Given the description of an element on the screen output the (x, y) to click on. 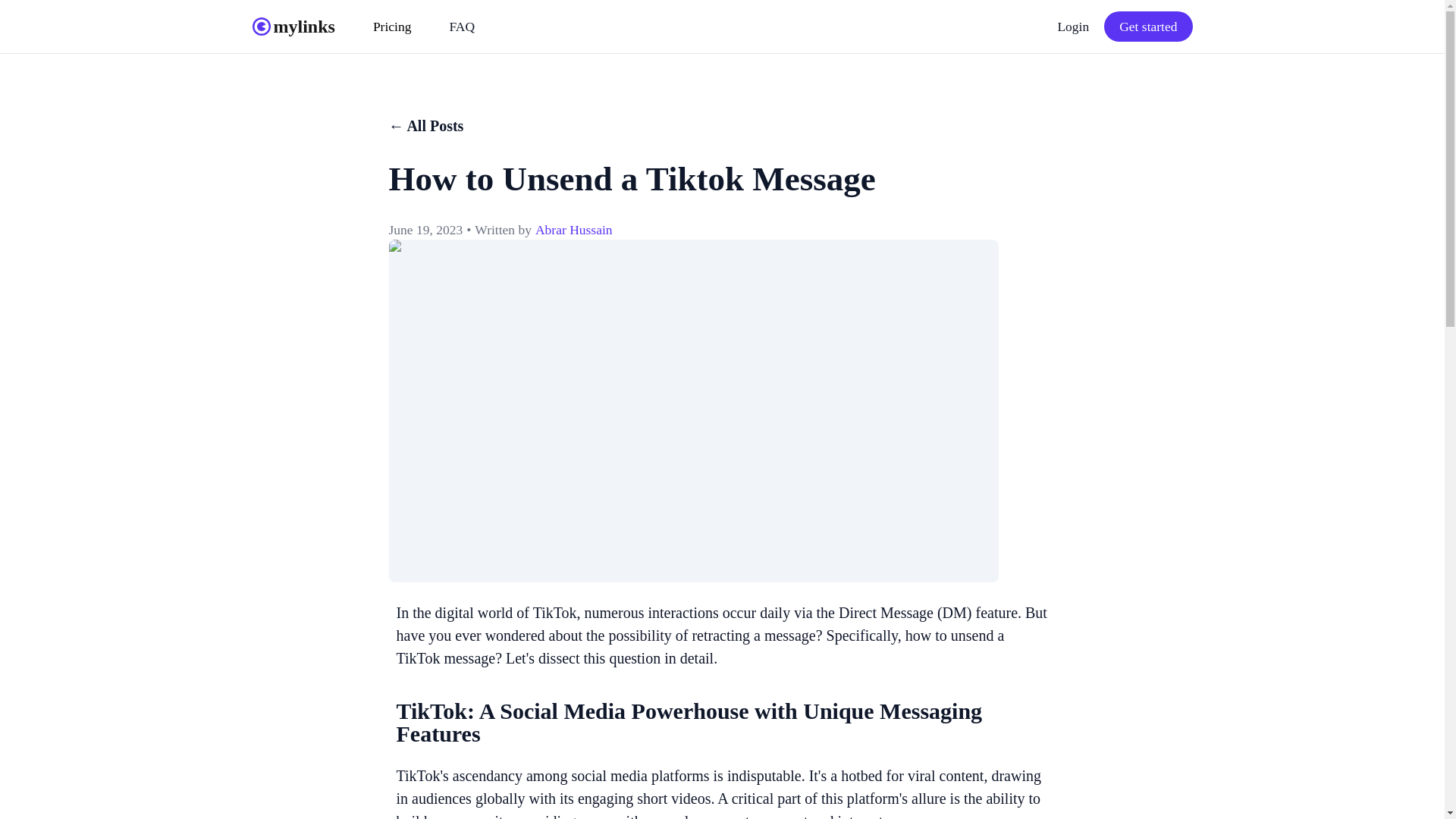
mylinks (292, 26)
Get started (1147, 26)
Abrar Hussain (573, 229)
Login (1073, 26)
Pricing (392, 26)
FAQ (461, 26)
